Given the description of an element on the screen output the (x, y) to click on. 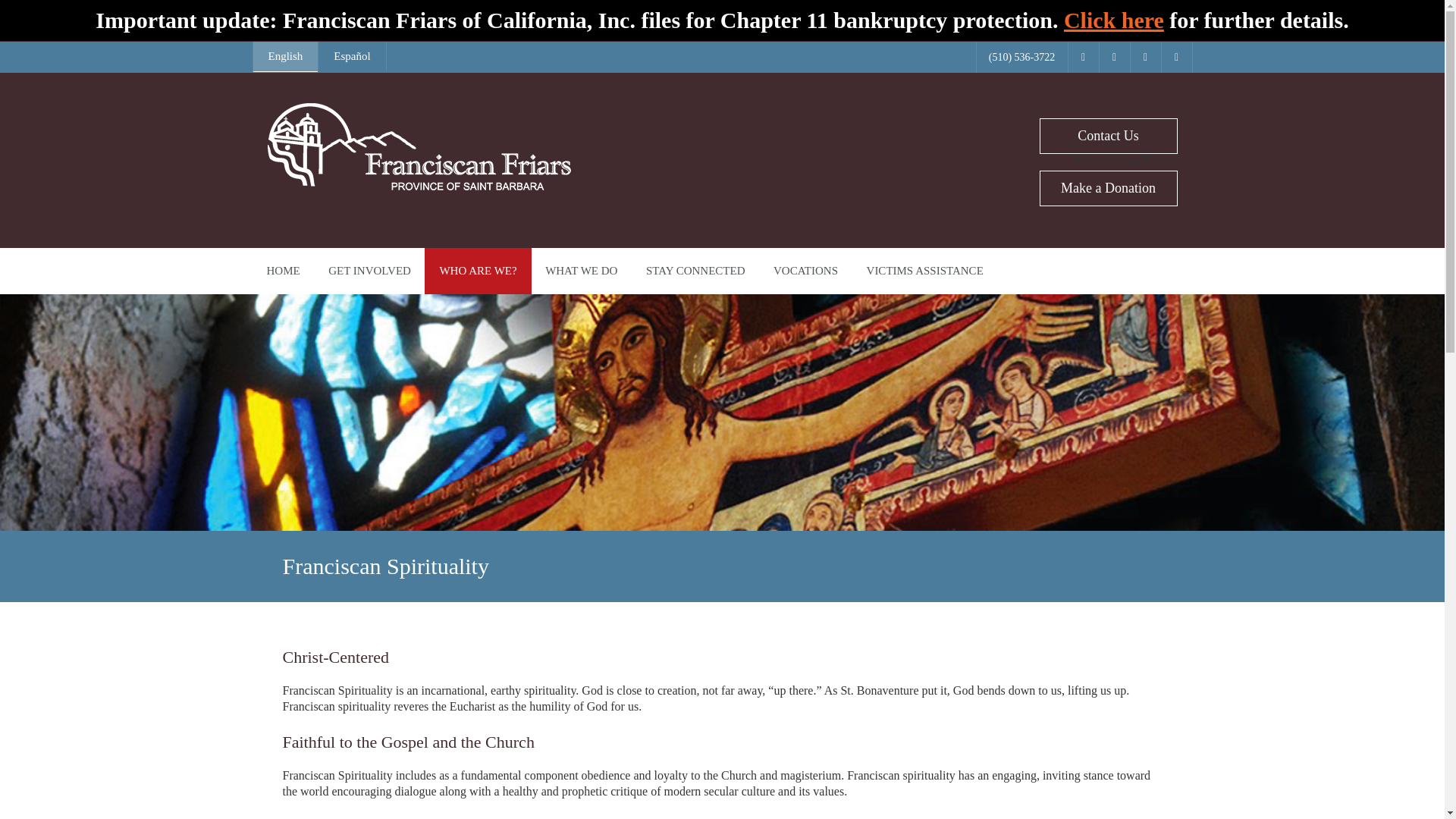
WHO ARE WE? (478, 271)
English (285, 56)
Make a Donation (1107, 188)
YouTube (1144, 56)
HOME (282, 271)
WHAT WE DO (581, 271)
Contact Us (1107, 135)
GET INVOLVED (369, 271)
Franciscan Friars - Province of Santa Barbara (418, 186)
Twitter (1114, 56)
Search (22, 8)
English (285, 56)
Facebook (1082, 56)
Click here (1113, 19)
